Given the description of an element on the screen output the (x, y) to click on. 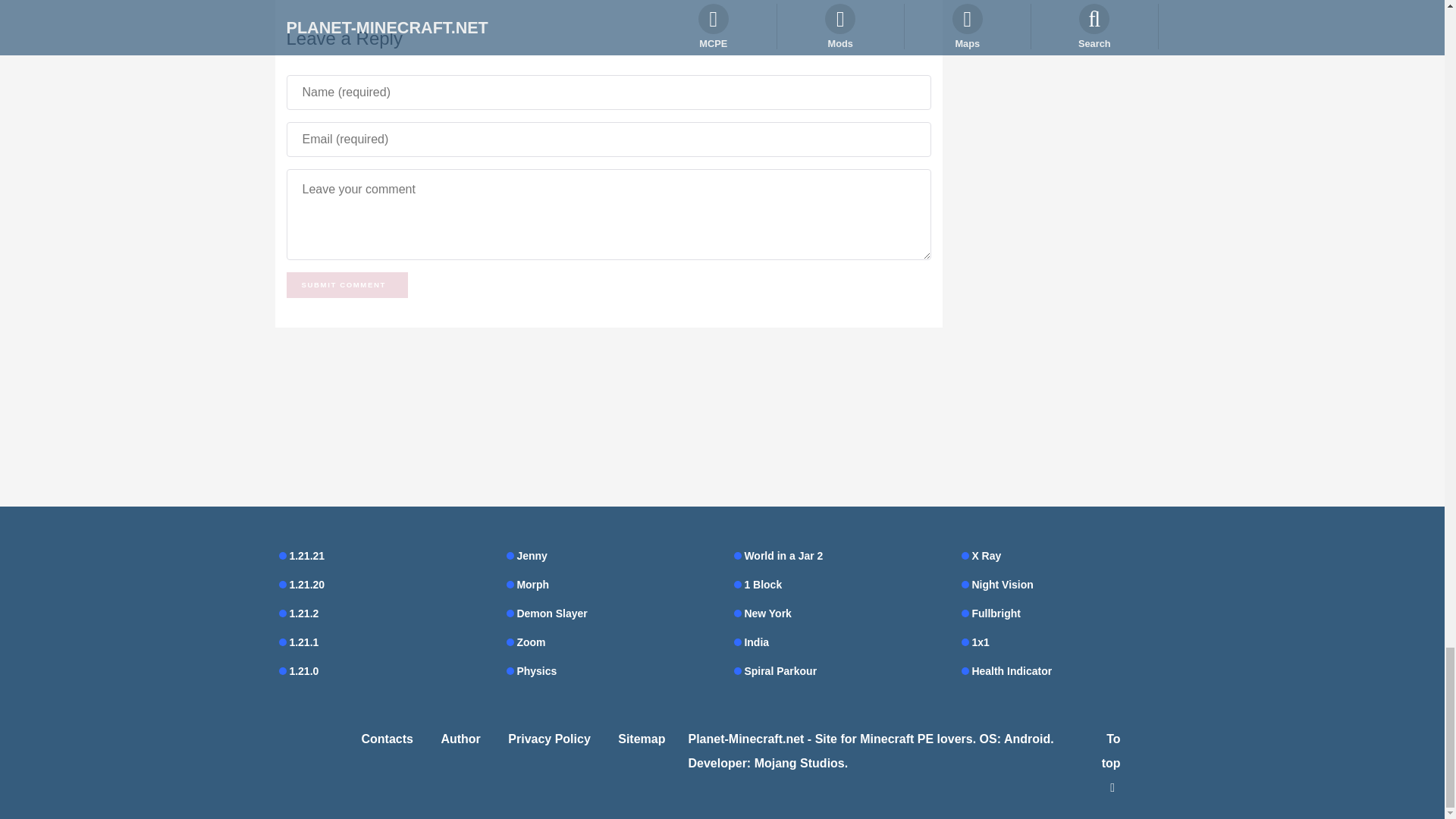
1.21.21 (381, 555)
1.21.2 (381, 613)
1.21.0 (381, 670)
Submit Comment (346, 284)
1.21.20 (381, 584)
1.21.1 (381, 641)
